Given the description of an element on the screen output the (x, y) to click on. 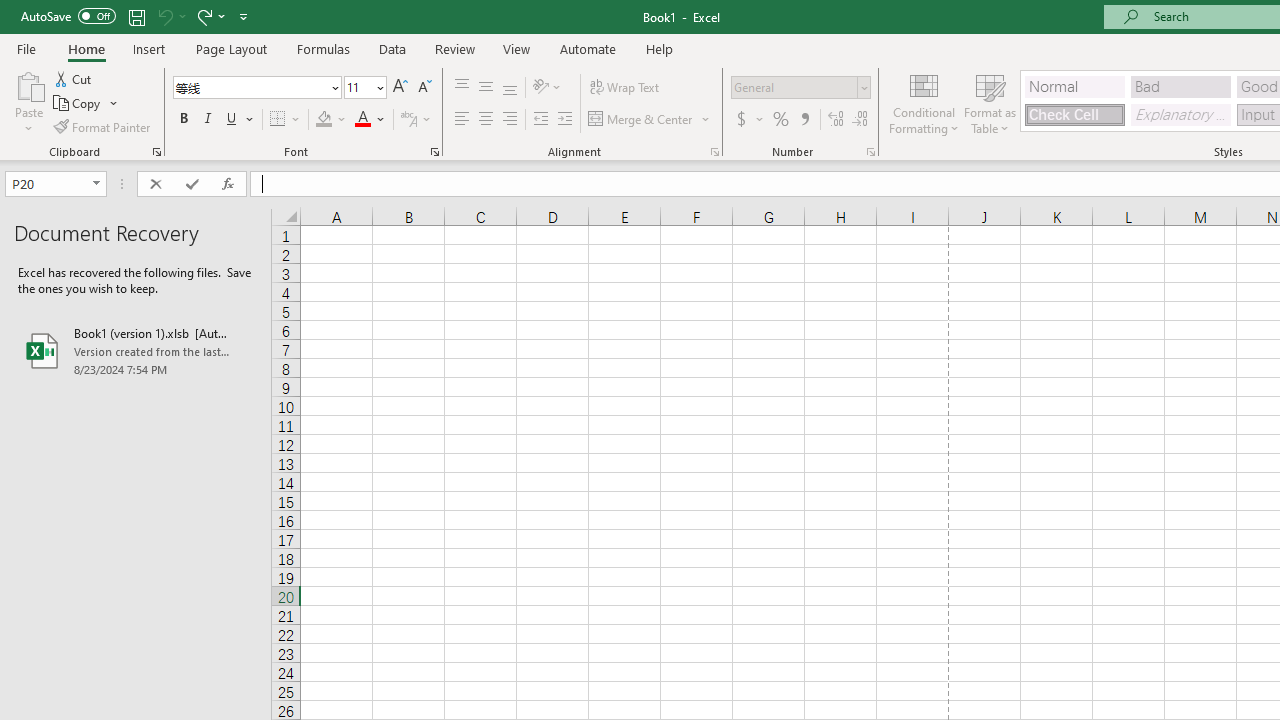
Bottom Align (509, 87)
Paste (28, 84)
Decrease Decimal (859, 119)
Bottom Border (278, 119)
Format Painter (103, 126)
Increase Indent (565, 119)
Font (256, 87)
Comma Style (804, 119)
Orientation (547, 87)
Font (250, 87)
Font Color (370, 119)
Check Cell (1074, 114)
Underline (239, 119)
